Given the description of an element on the screen output the (x, y) to click on. 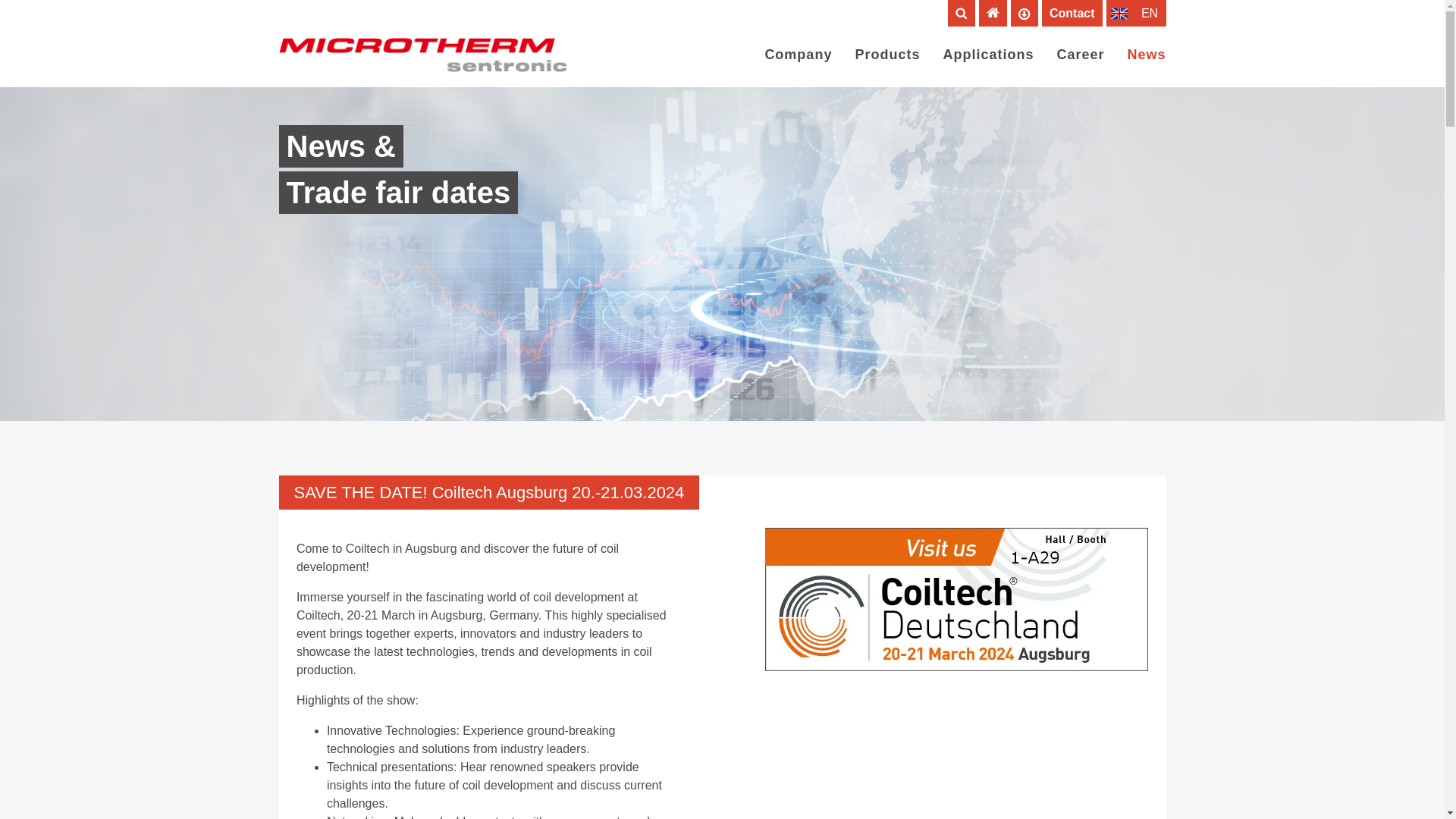
Products (887, 55)
Career (1080, 55)
Applications (987, 55)
Company (797, 55)
News (1146, 55)
Products (887, 55)
Career (1080, 55)
Applications (987, 55)
Company (797, 55)
Contact (1071, 12)
